Given the description of an element on the screen output the (x, y) to click on. 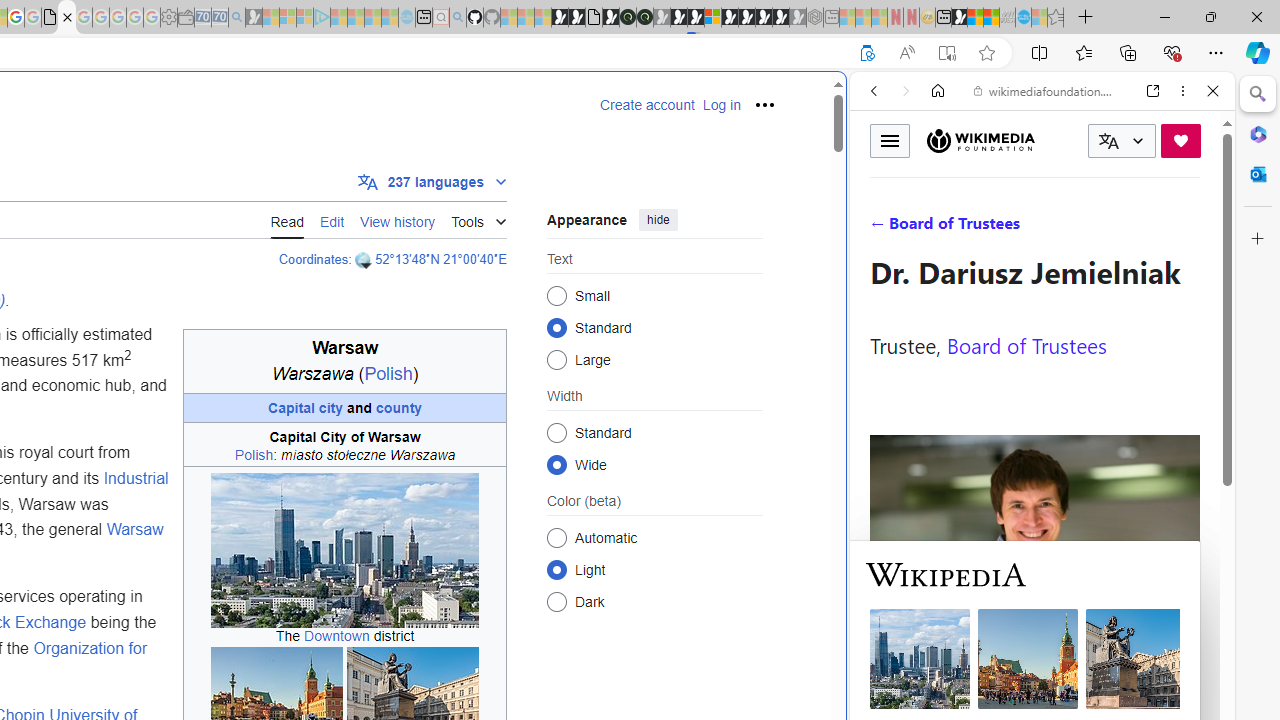
Toggle menu (890, 140)
Edit (331, 219)
Standard (556, 431)
